Given the description of an element on the screen output the (x, y) to click on. 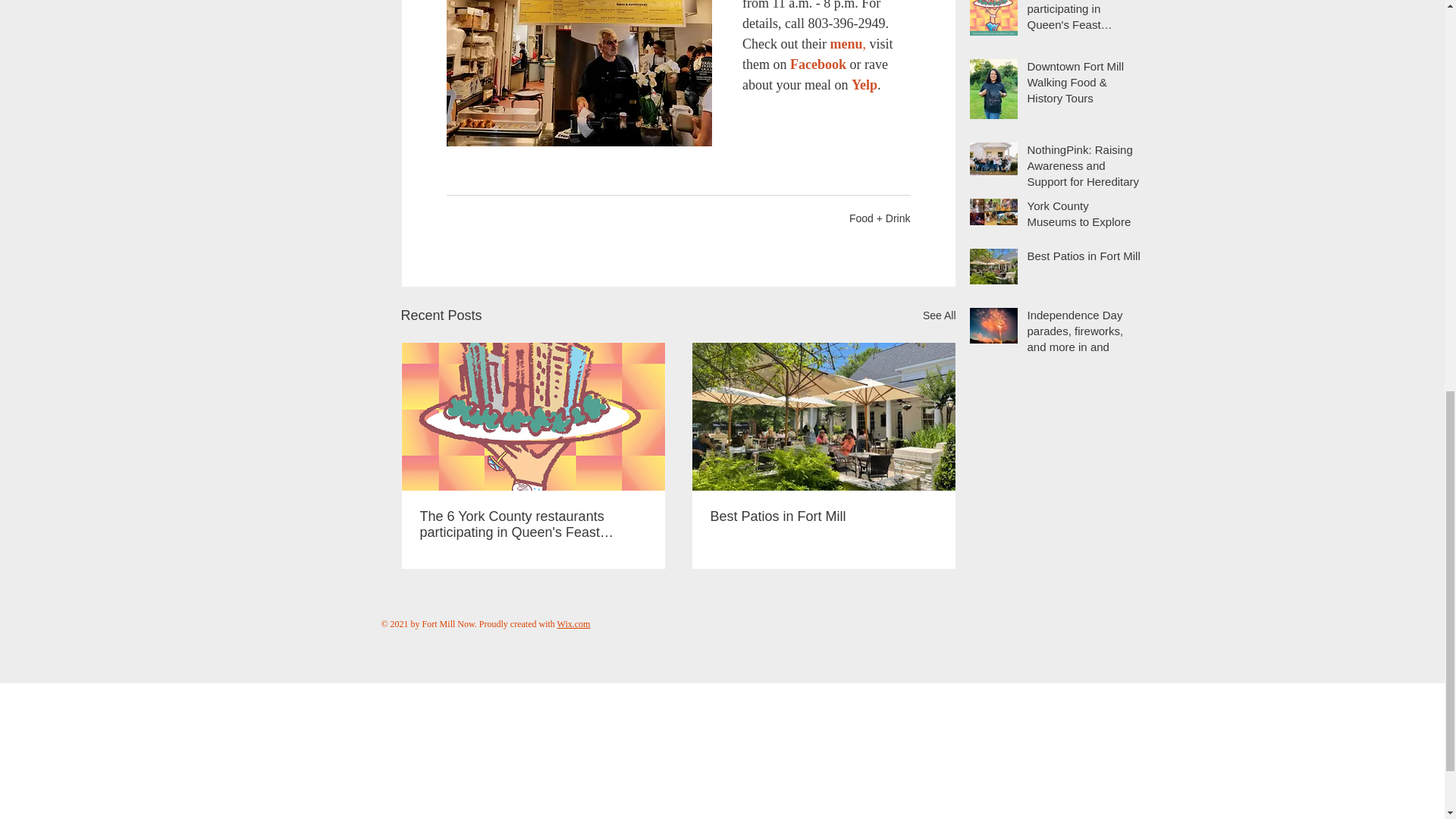
Facebook (817, 64)
York County Museums to Explore (1083, 216)
Yelp (863, 84)
Best Patios in Fort Mill (823, 516)
Wix.com (574, 624)
menu (845, 43)
Best Patios in Fort Mill (1083, 259)
Advertisement (455, 751)
See All (939, 315)
